Given the description of an element on the screen output the (x, y) to click on. 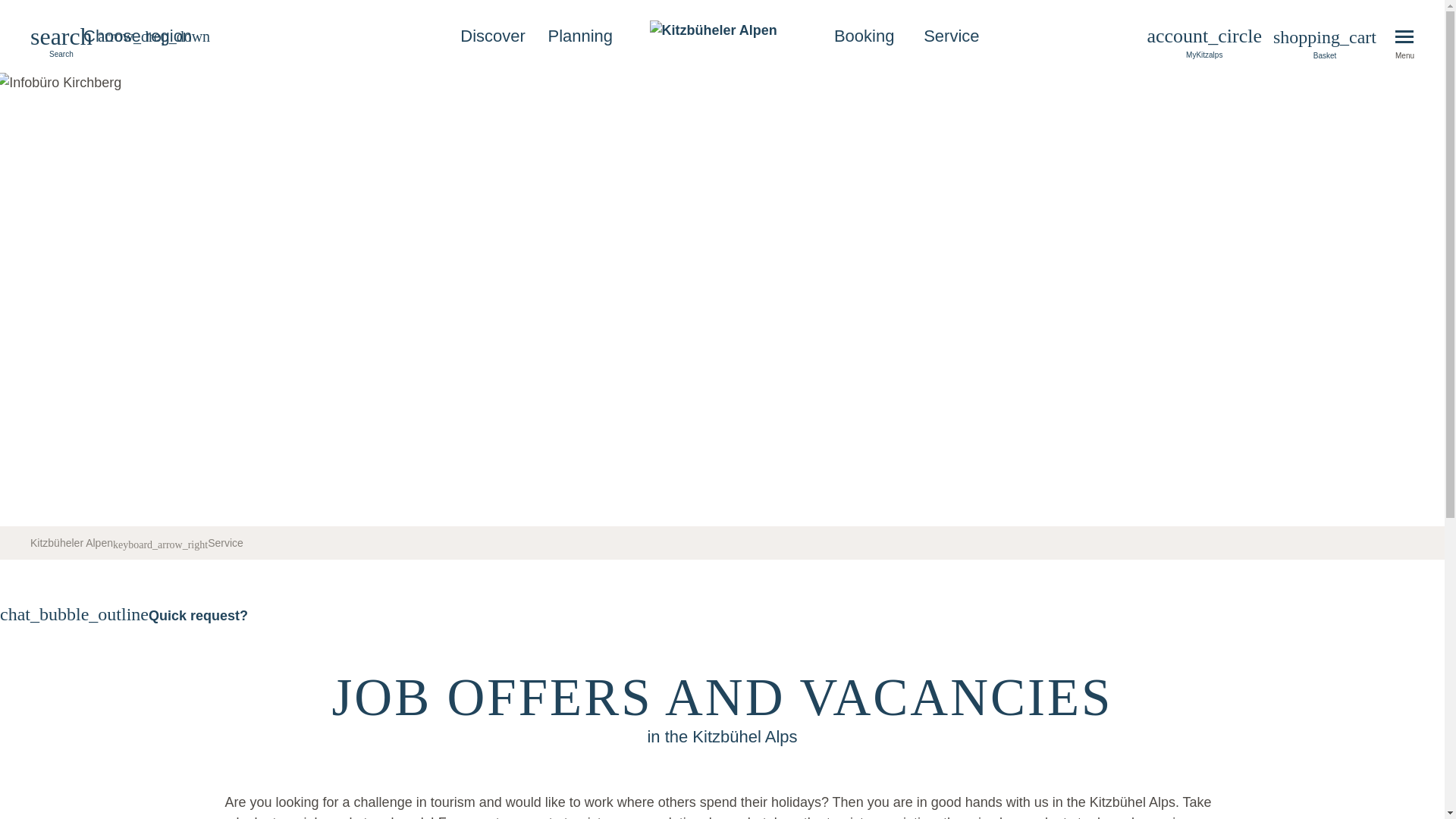
Booking (864, 36)
Discover (491, 36)
Service (950, 36)
Service (225, 542)
search (61, 41)
Planning (580, 36)
